Given the description of an element on the screen output the (x, y) to click on. 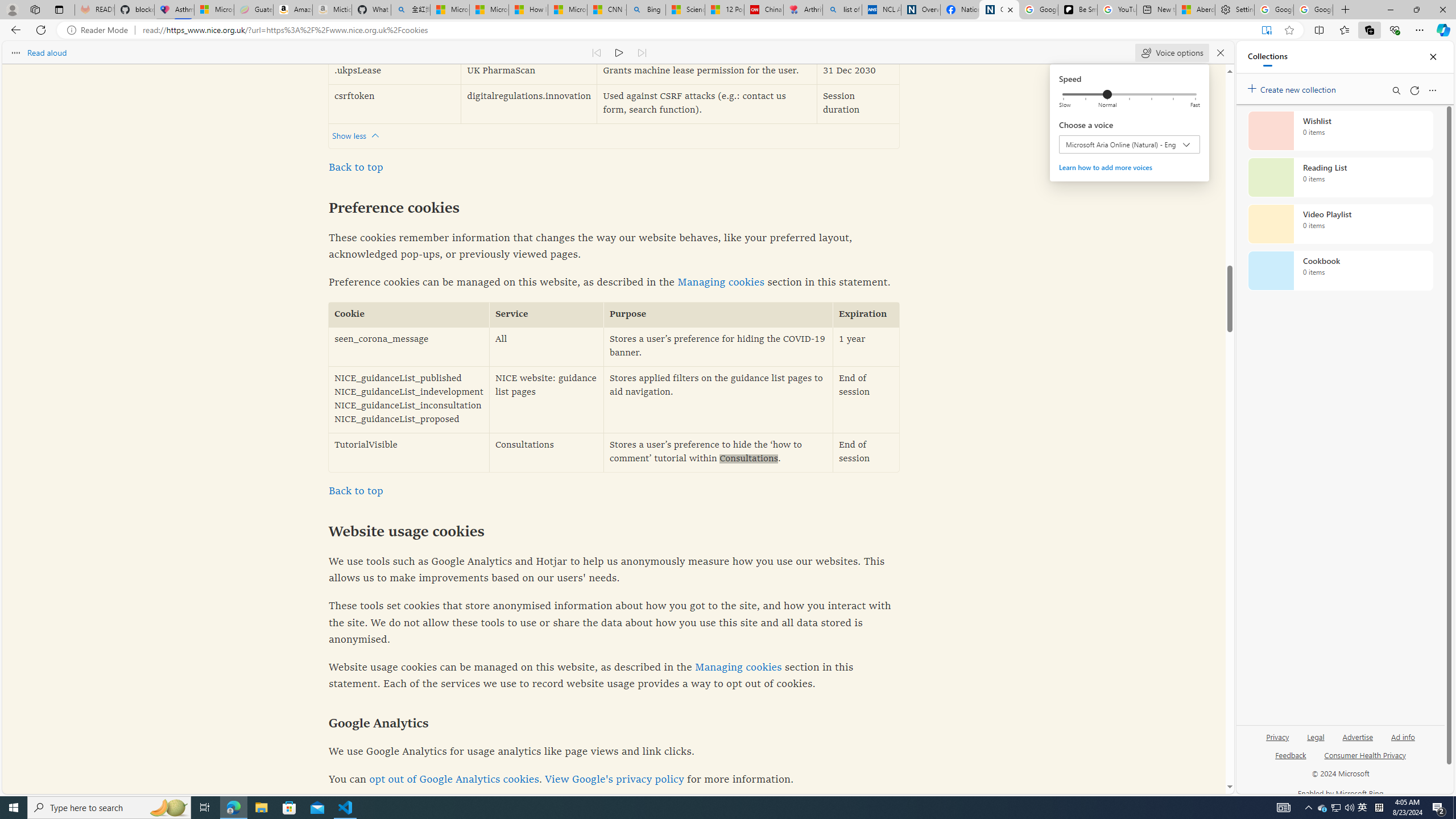
More options menu (1432, 90)
UK PharmaScan (528, 71)
Legal (1315, 736)
Feedback (1291, 759)
Asthma Inhalers: Names and Types (174, 9)
Address and search bar (698, 29)
Privacy (1277, 741)
Voice options (1171, 52)
Microsoft-Report a Concern to Bing (213, 9)
